Given the description of an element on the screen output the (x, y) to click on. 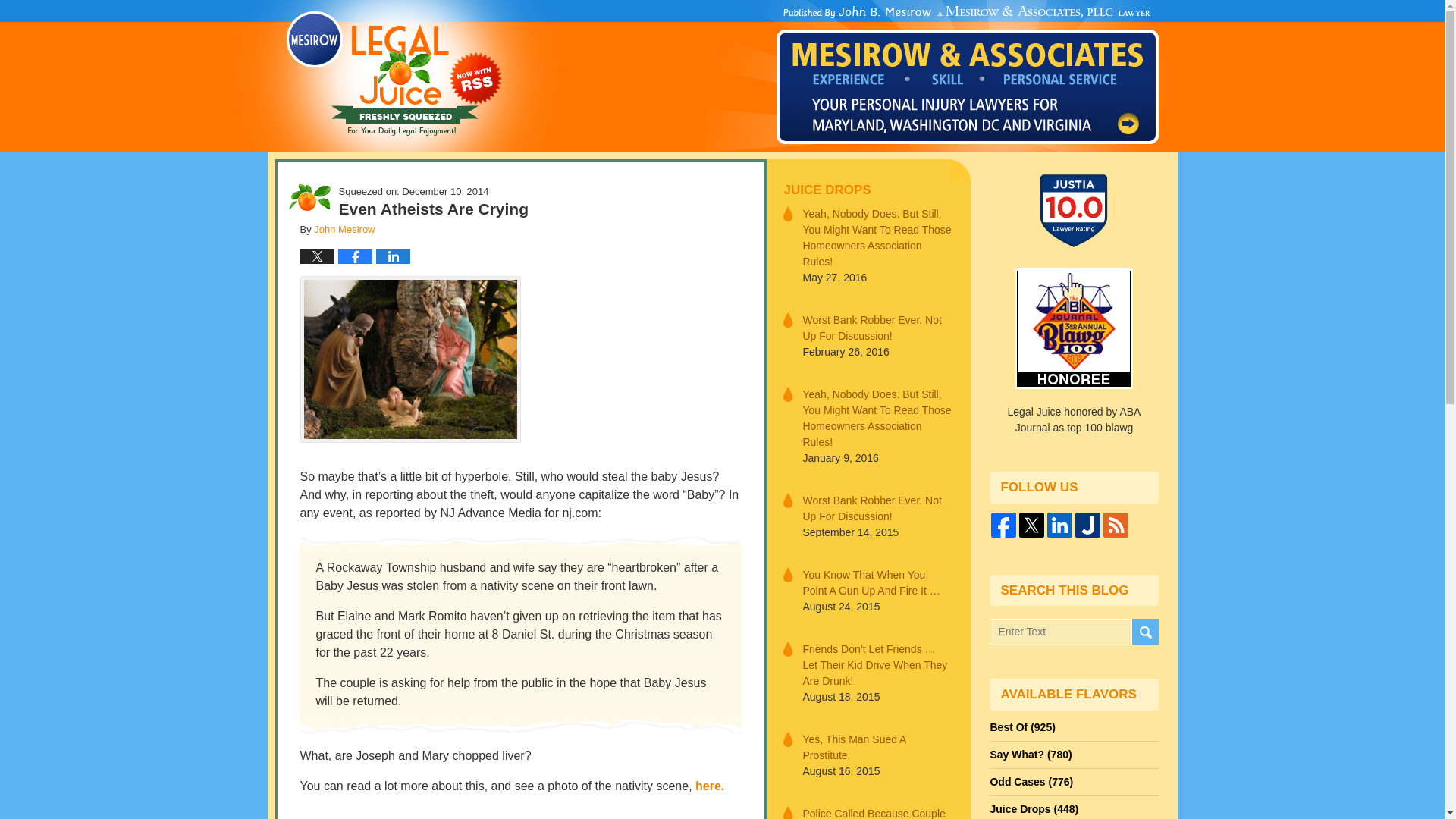
Justia (1088, 524)
JUICE DROPS (867, 189)
Facebook (1003, 524)
Yes, This Man Sued A Prostitute. (877, 746)
SEARCH (1144, 632)
Twitter (1031, 524)
John Mesirow (344, 229)
here. (709, 785)
Worst Bank Robber Ever. Not Up For Discussion! (877, 327)
Legal Juice (394, 73)
Worst Bank Robber Ever. Not Up For Discussion! (877, 508)
LinkedIn (1059, 524)
Feed (1115, 524)
